Given the description of an element on the screen output the (x, y) to click on. 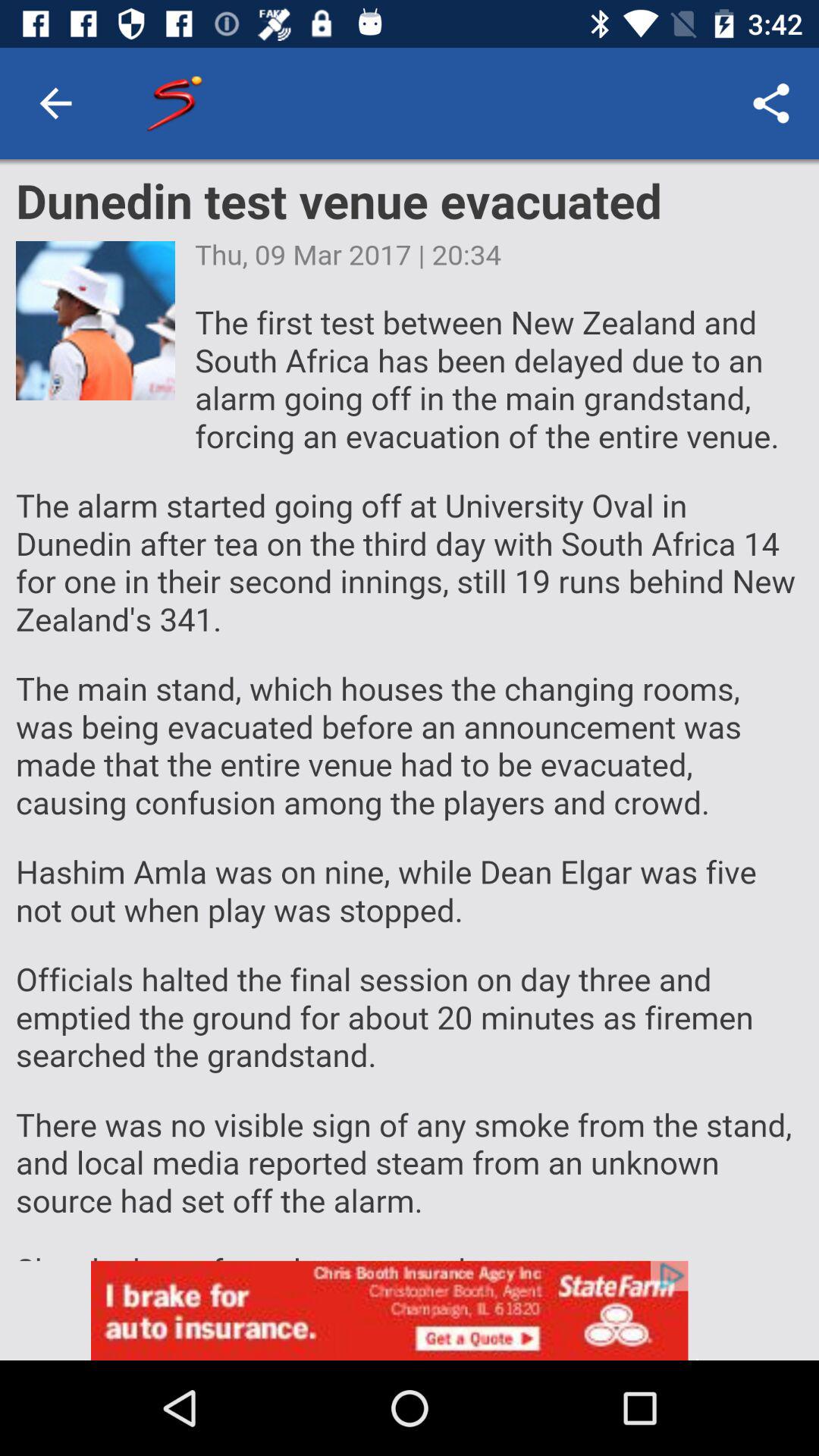
choose the selection (409, 709)
